Given the description of an element on the screen output the (x, y) to click on. 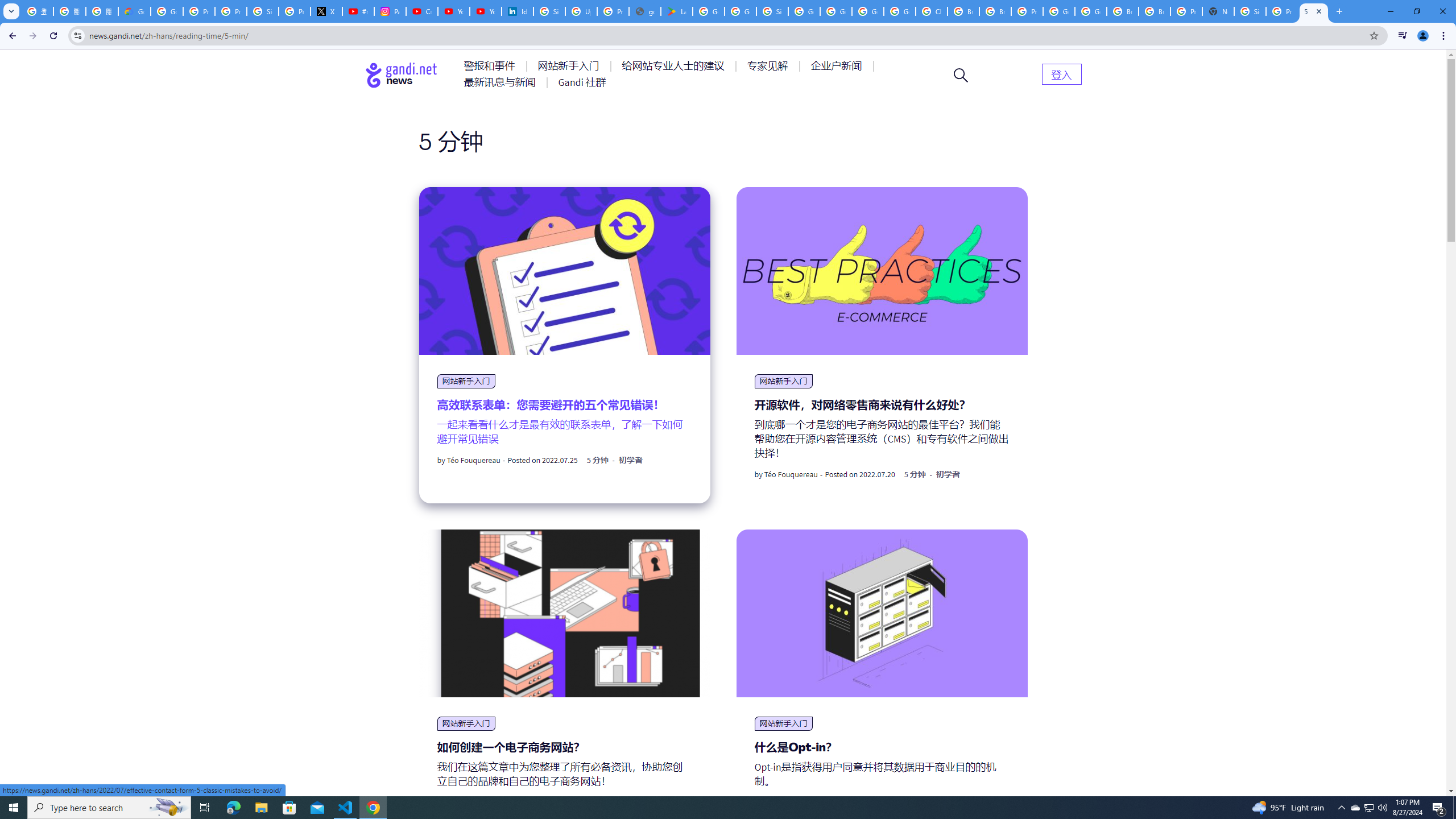
Close (1318, 11)
AutomationID: menu-item-77761 (492, 65)
AutomationID: menu-item-77767 (581, 82)
Browse Chrome as a guest - Computer - Google Chrome Help (1154, 11)
New Tab (1338, 11)
Address and search bar (725, 35)
AutomationID: menu-item-77766 (502, 82)
